Given the description of an element on the screen output the (x, y) to click on. 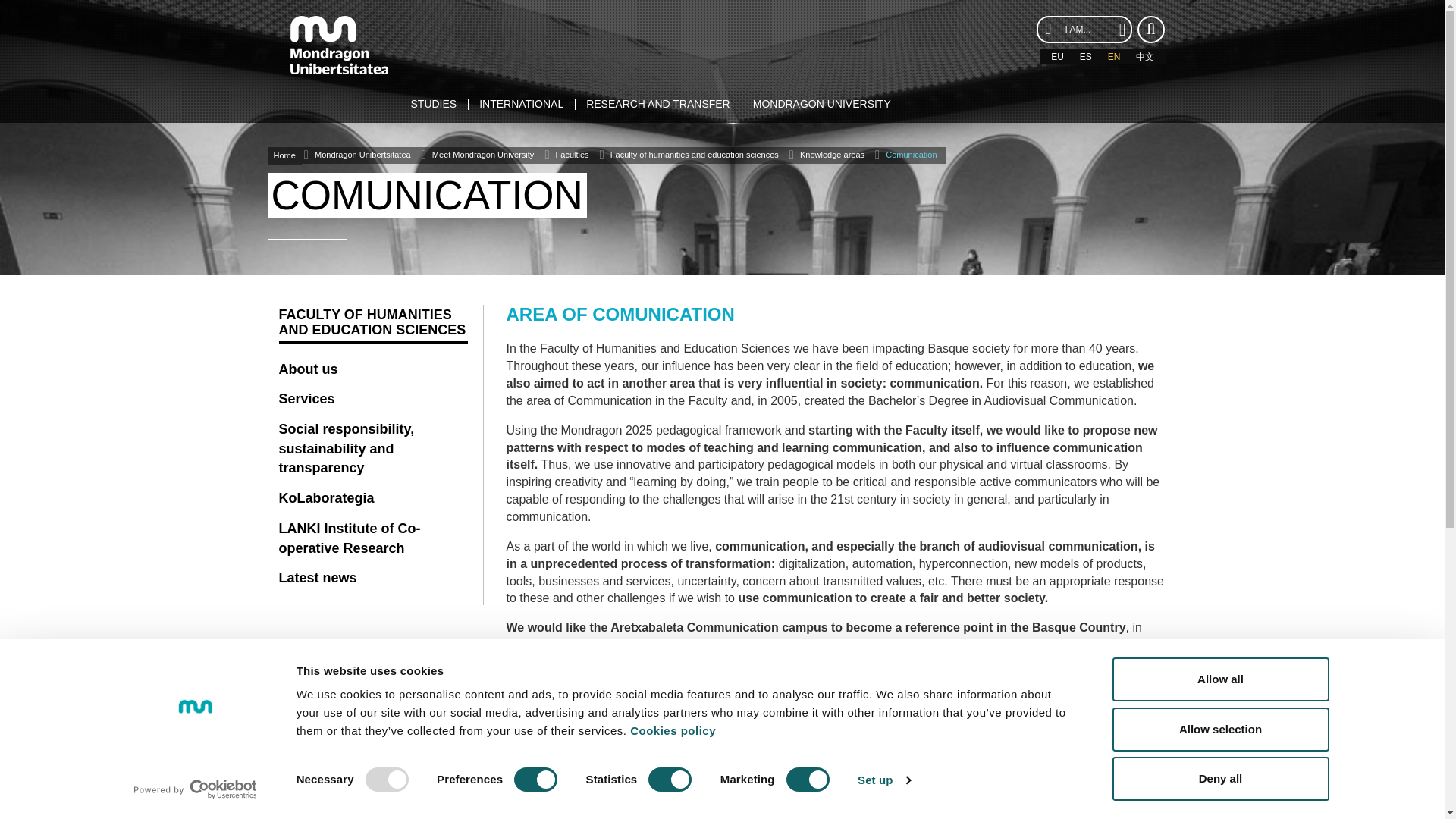
Set up (884, 780)
Cookies policy (673, 730)
